Given the description of an element on the screen output the (x, y) to click on. 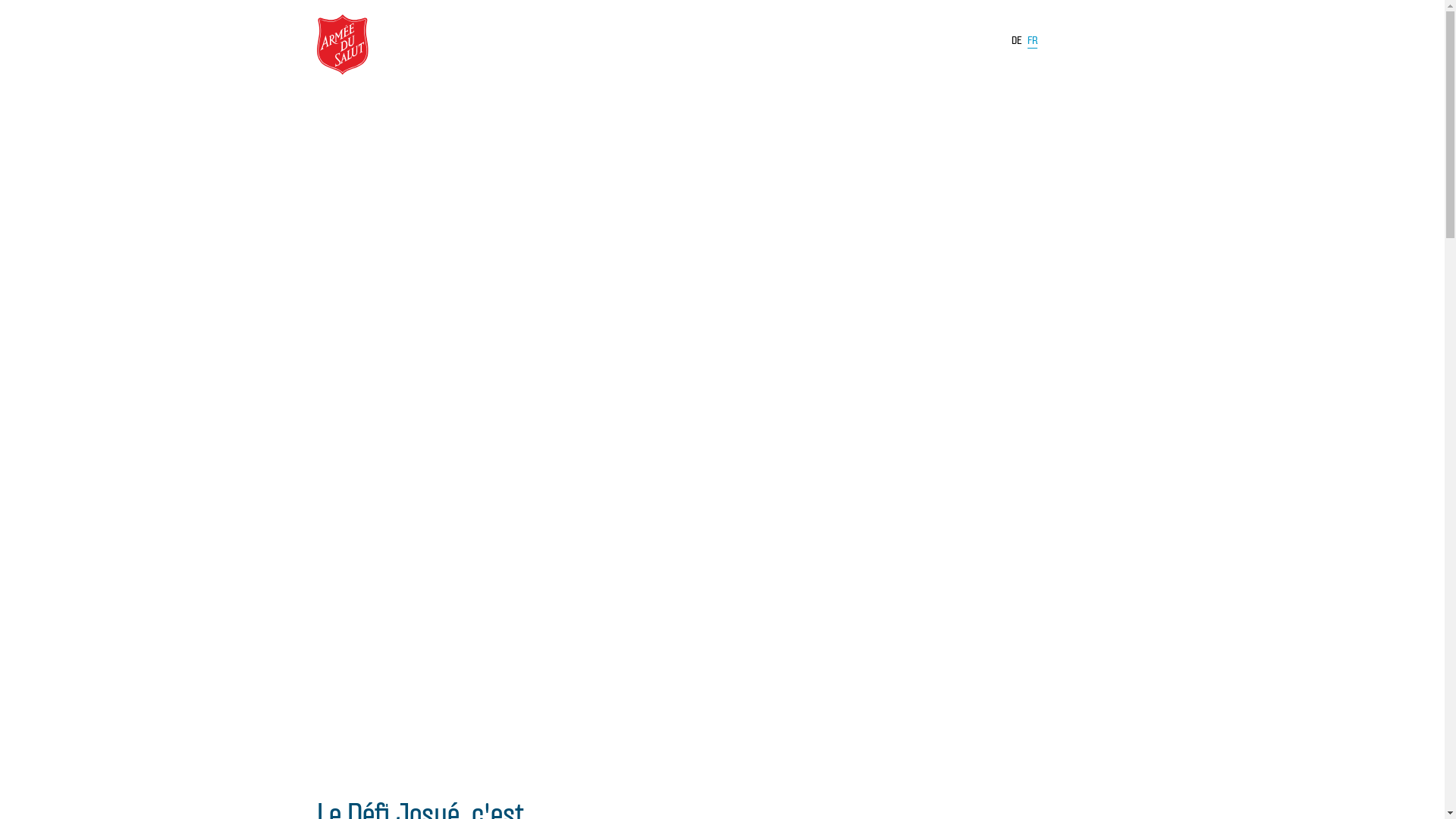
FR Element type: text (1031, 42)
DE Element type: text (1016, 40)
